Given the description of an element on the screen output the (x, y) to click on. 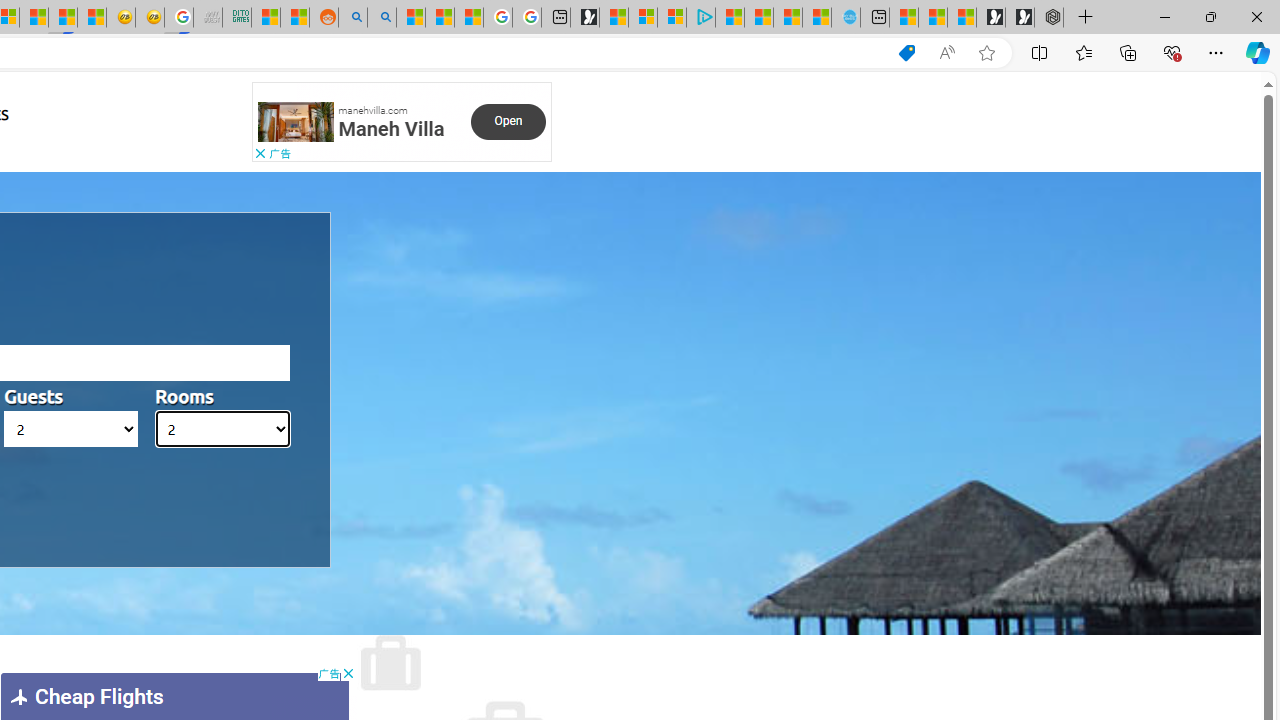
Class: ns-pn6gp-e-2 svg-anchor text-button-final (508, 121)
manehvilla.com (372, 109)
